Given the description of an element on the screen output the (x, y) to click on. 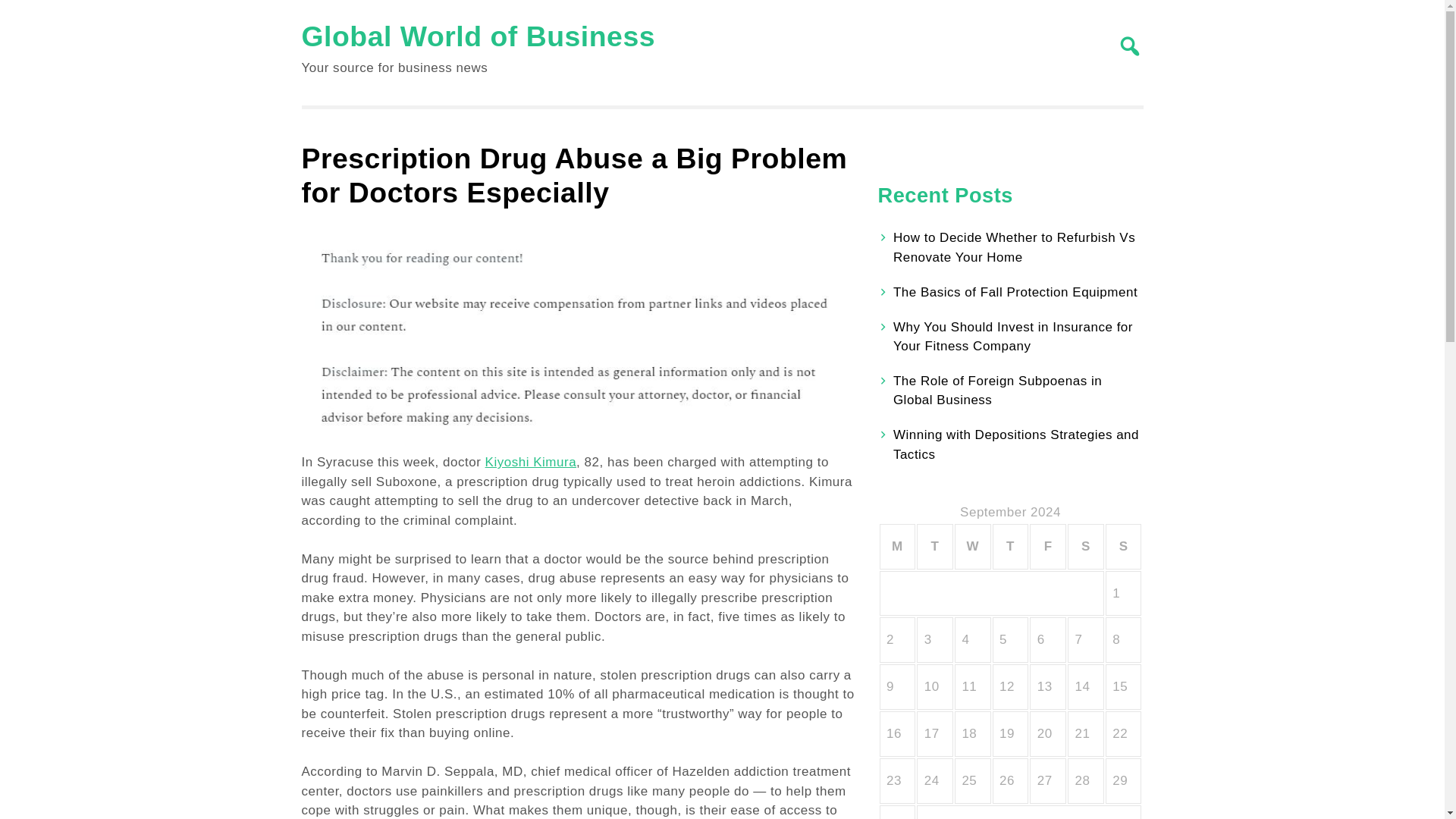
Global World of Business (478, 36)
The Basics of Fall Protection Equipment (1015, 292)
Why You Should Invest in Insurance for Your Fitness Company (1012, 336)
Kiyoshi Kimura (530, 462)
How to Decide Whether to Refurbish Vs Renovate Your Home (1014, 247)
Winning with Depositions Strategies and Tactics (1015, 444)
The Role of Foreign Subpoenas in Global Business (997, 390)
